Given the description of an element on the screen output the (x, y) to click on. 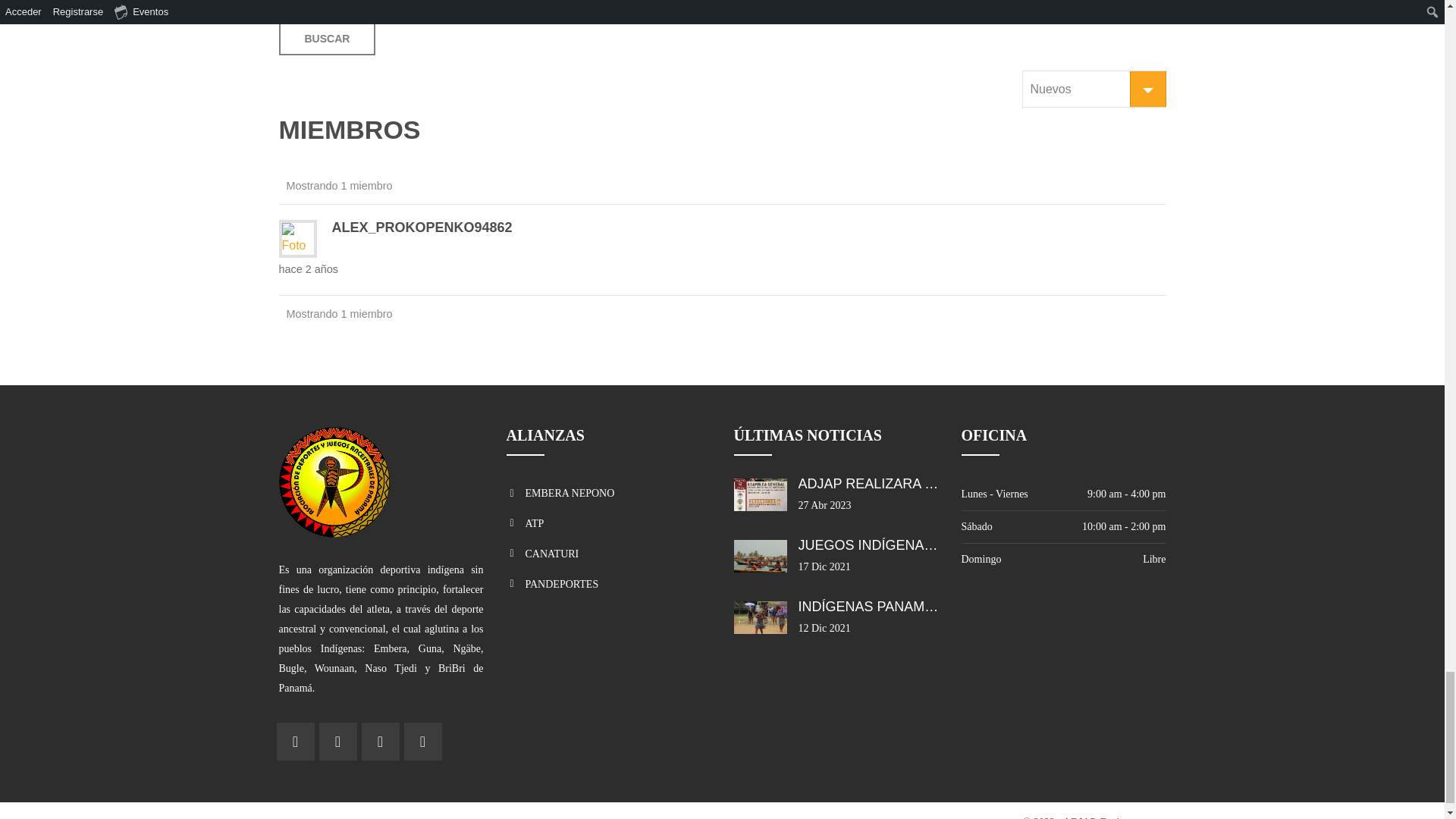
Buscar (327, 38)
